Given the description of an element on the screen output the (x, y) to click on. 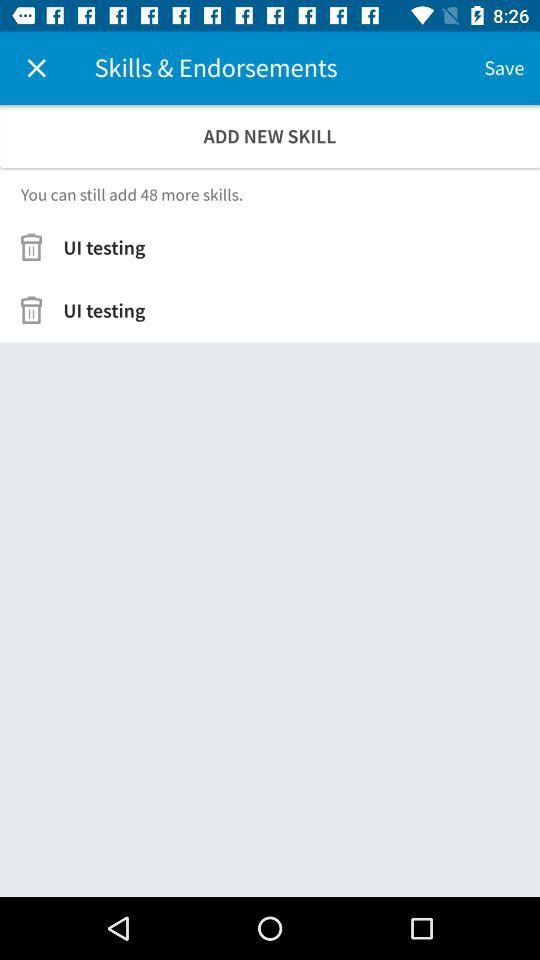
launch icon to the left of the skills & endorsements icon (36, 68)
